Given the description of an element on the screen output the (x, y) to click on. 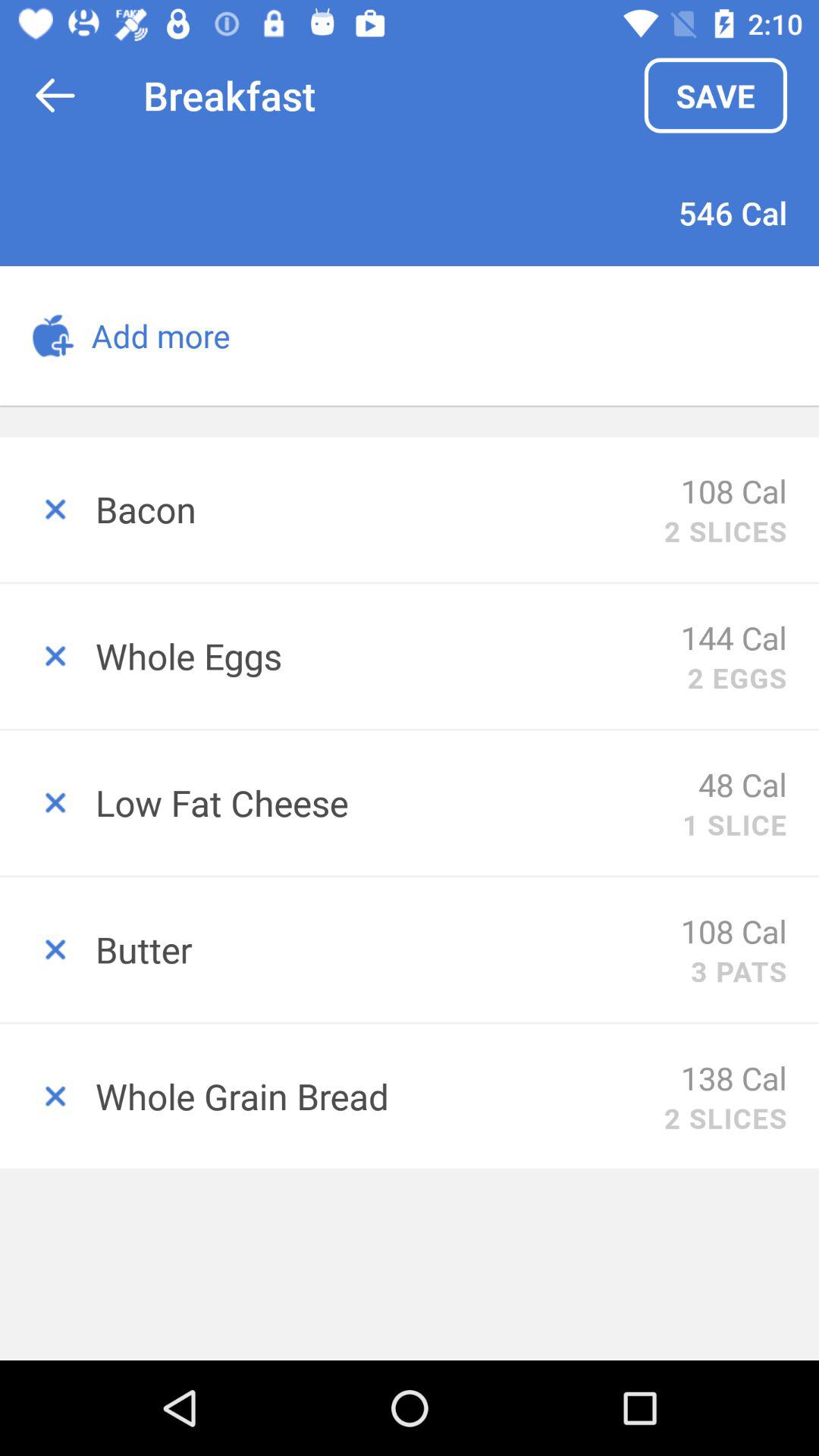
delete (47, 949)
